Given the description of an element on the screen output the (x, y) to click on. 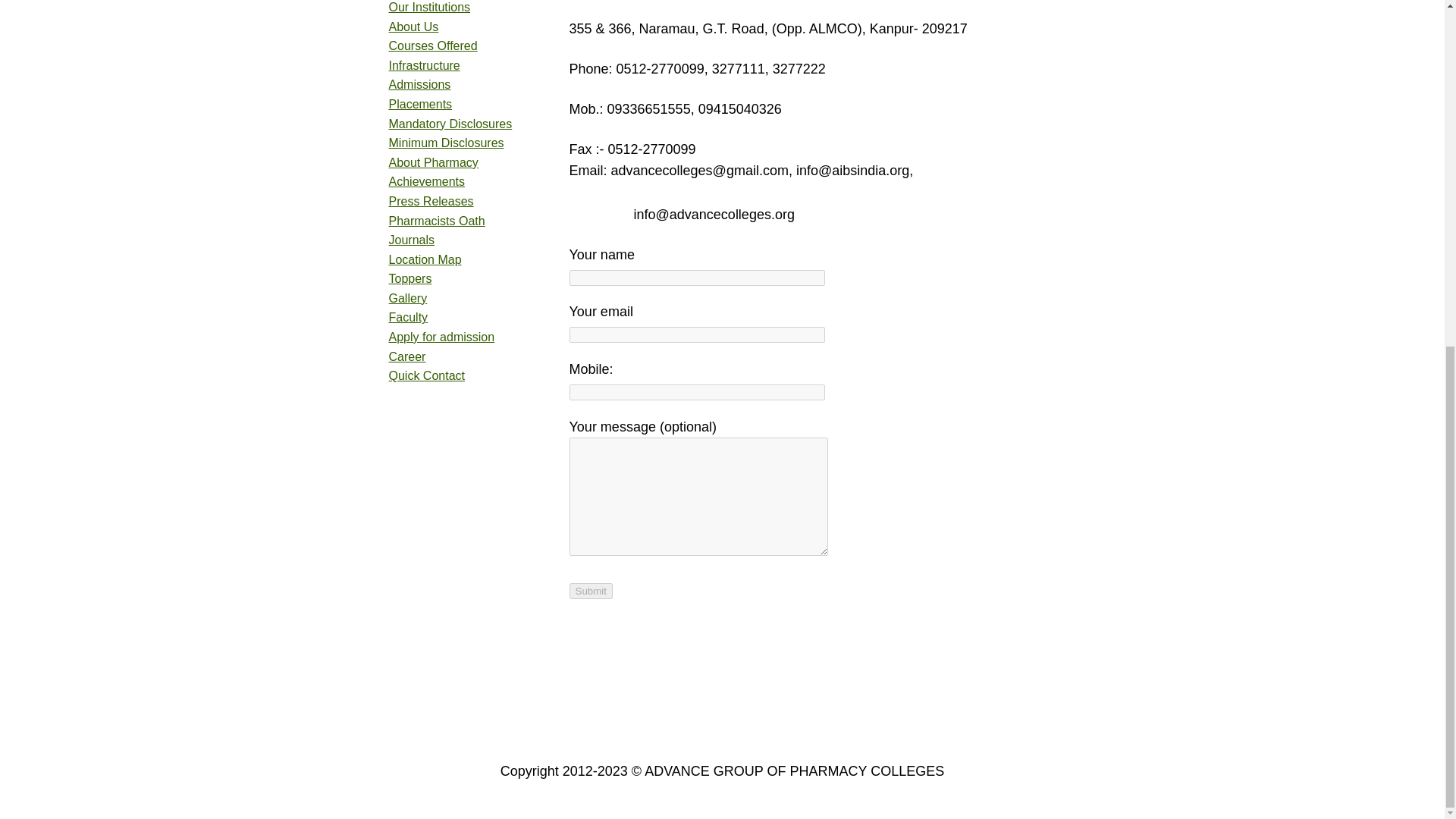
Courses Offered (432, 45)
Mandatory Disclosures (450, 123)
About Us (413, 26)
Submit (590, 590)
Our Institutions (429, 6)
Placements (419, 103)
Infrastructure (424, 65)
Admissions (418, 83)
